Given the description of an element on the screen output the (x, y) to click on. 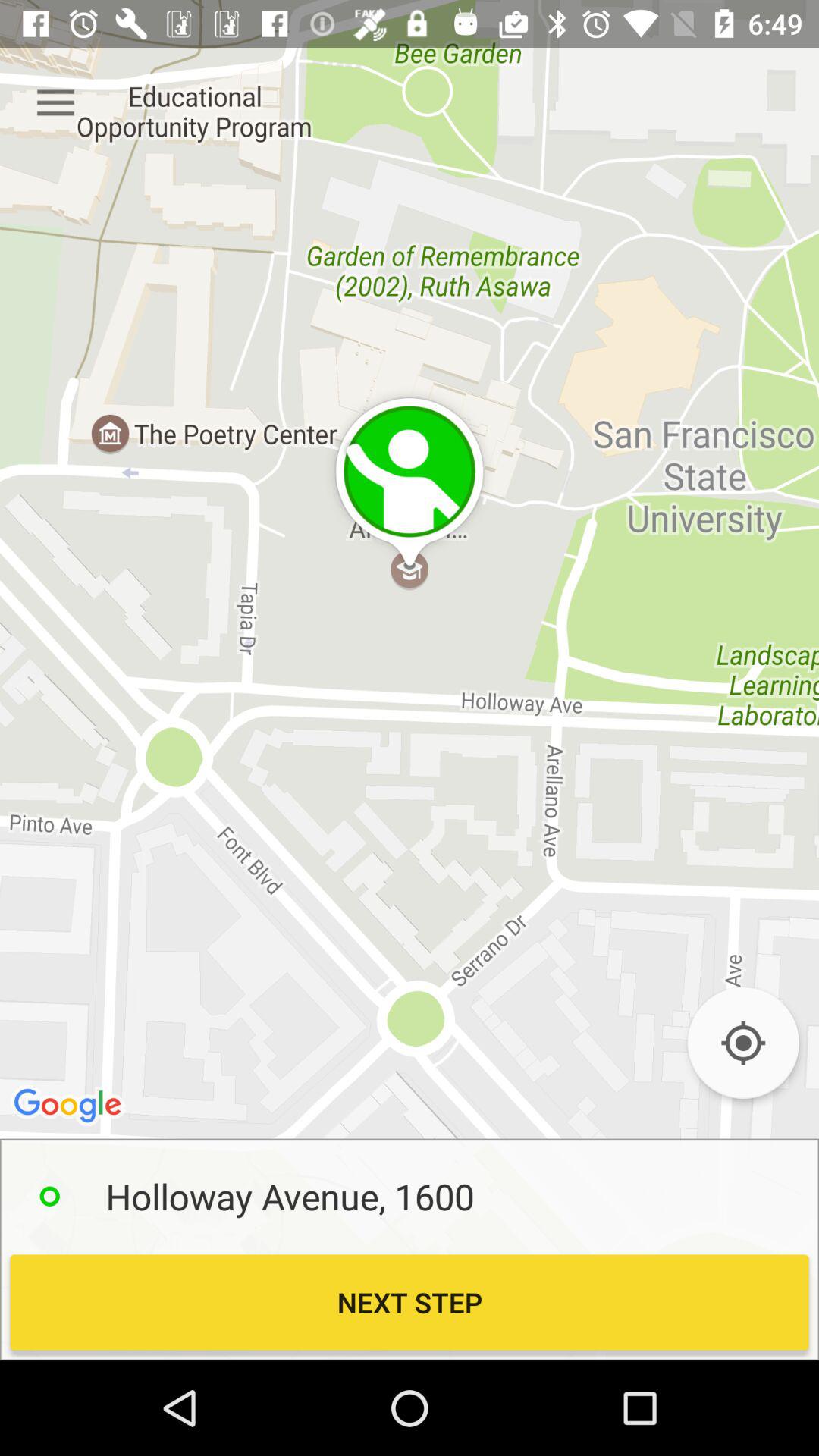
ave (743, 1042)
